Given the description of an element on the screen output the (x, y) to click on. 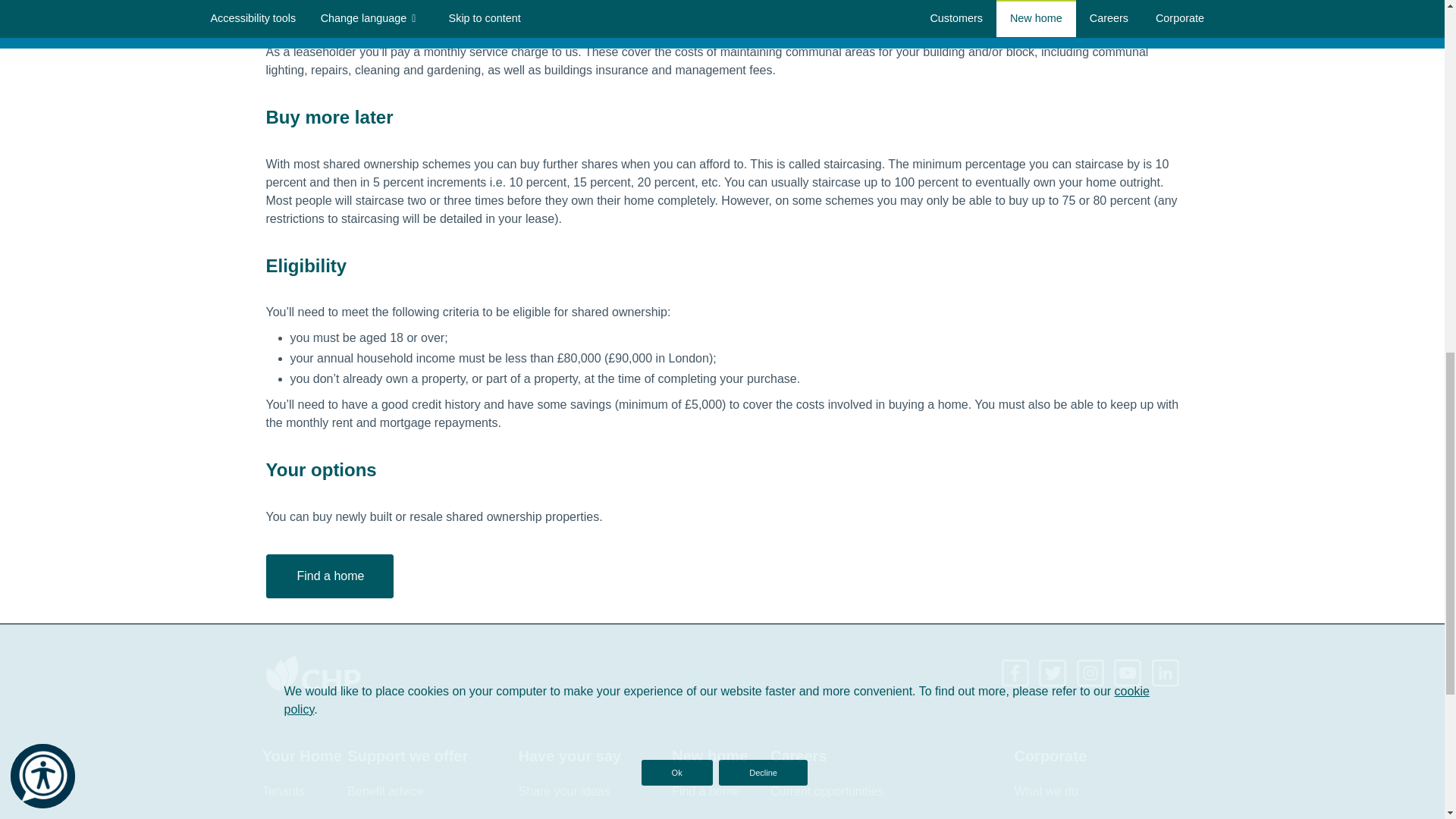
Opens in a new window (1053, 671)
Opens in a new window (1016, 671)
Opens in a new window (1128, 671)
New homes (328, 576)
Opens in a new window (1091, 671)
Opens in a new window (1164, 671)
